Given the description of an element on the screen output the (x, y) to click on. 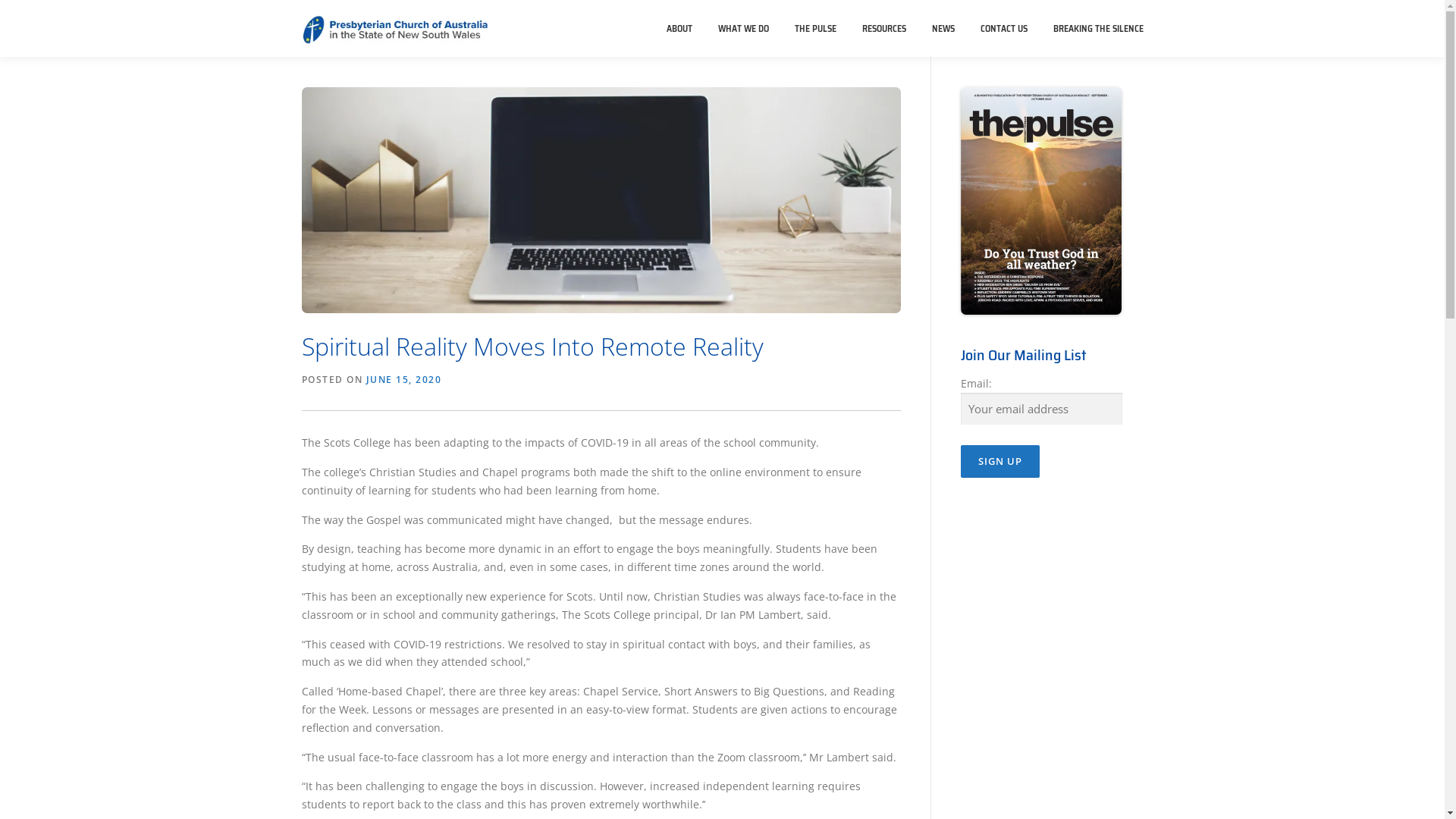
Skip to content Element type: text (37, 9)
NEWS Element type: text (943, 28)
RESOURCES Element type: text (884, 28)
BREAKING THE SILENCE Element type: text (1091, 28)
THE PULSE Element type: text (814, 28)
ABOUT Element type: text (679, 28)
CONTACT US Element type: text (1003, 28)
Sign up Element type: text (999, 461)
JUNE 15, 2020 Element type: text (403, 379)
WHAT WE DO Element type: text (743, 28)
